Given the description of an element on the screen output the (x, y) to click on. 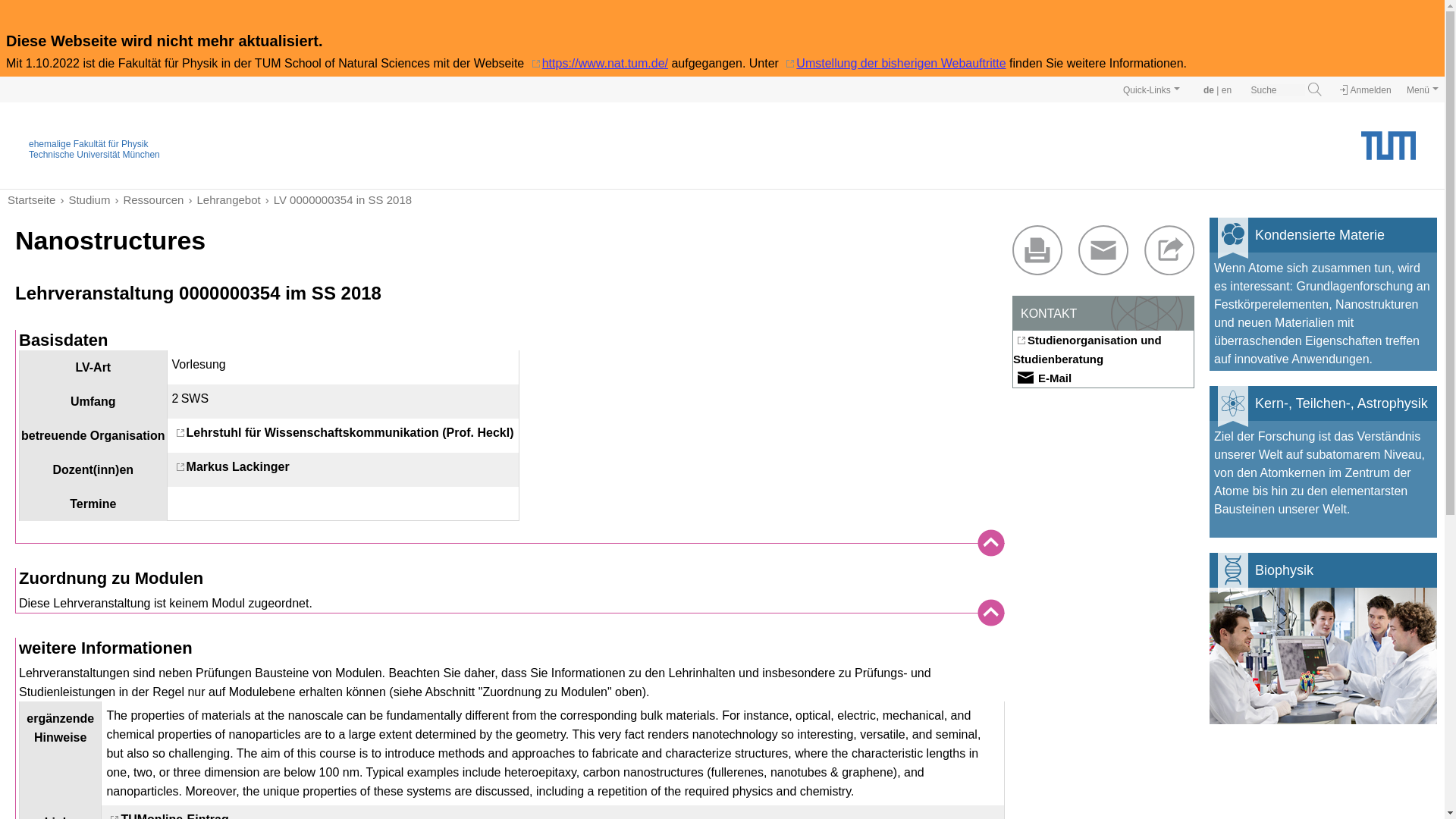
Startseite (31, 199)
LV 0000000354 in SS 2018 (336, 199)
Markus Lackinger (230, 466)
switch to English site (1226, 90)
Anmelden (1365, 90)
es wird die deutsche Sprachversion der Seite angezeigt (1209, 90)
Lehrangebot (221, 199)
TUMonline-Eintrag (167, 816)
Studium (82, 199)
Umstellung der bisherigen Webauftritte (893, 62)
en (1226, 90)
Quick-Links (1151, 89)
Ressourcen (146, 199)
